Given the description of an element on the screen output the (x, y) to click on. 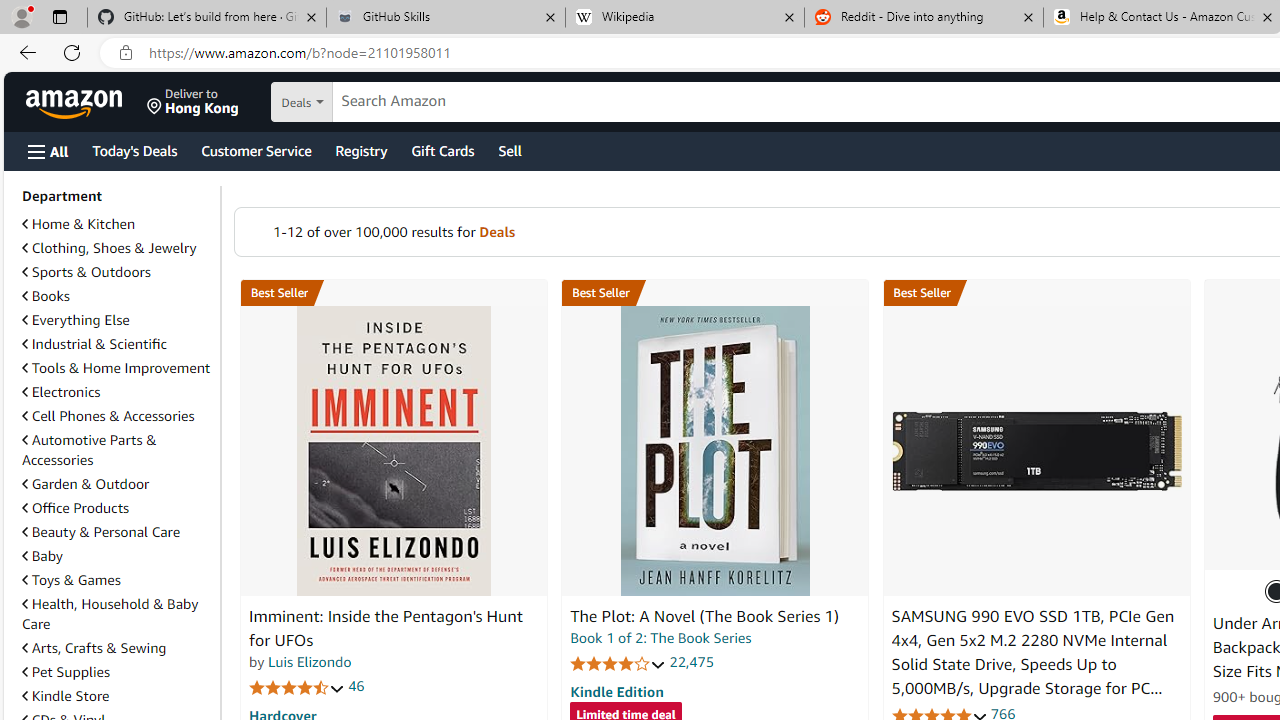
Book 1 of 2: The Book Series (660, 638)
Clothing, Shoes & Jewelry (117, 247)
Automotive Parts & Accessories (117, 449)
Toys & Games (71, 579)
Office Products (117, 507)
Today's Deals (134, 150)
The Plot: A Novel (The Book Series 1) (714, 451)
Pet Supplies (117, 671)
Kindle Edition (616, 691)
Books (117, 295)
Customer Service (256, 150)
Best Seller in Unexplained Mysteries (393, 293)
Industrial & Scientific (94, 343)
4.7 out of 5 stars (297, 686)
